Given the description of an element on the screen output the (x, y) to click on. 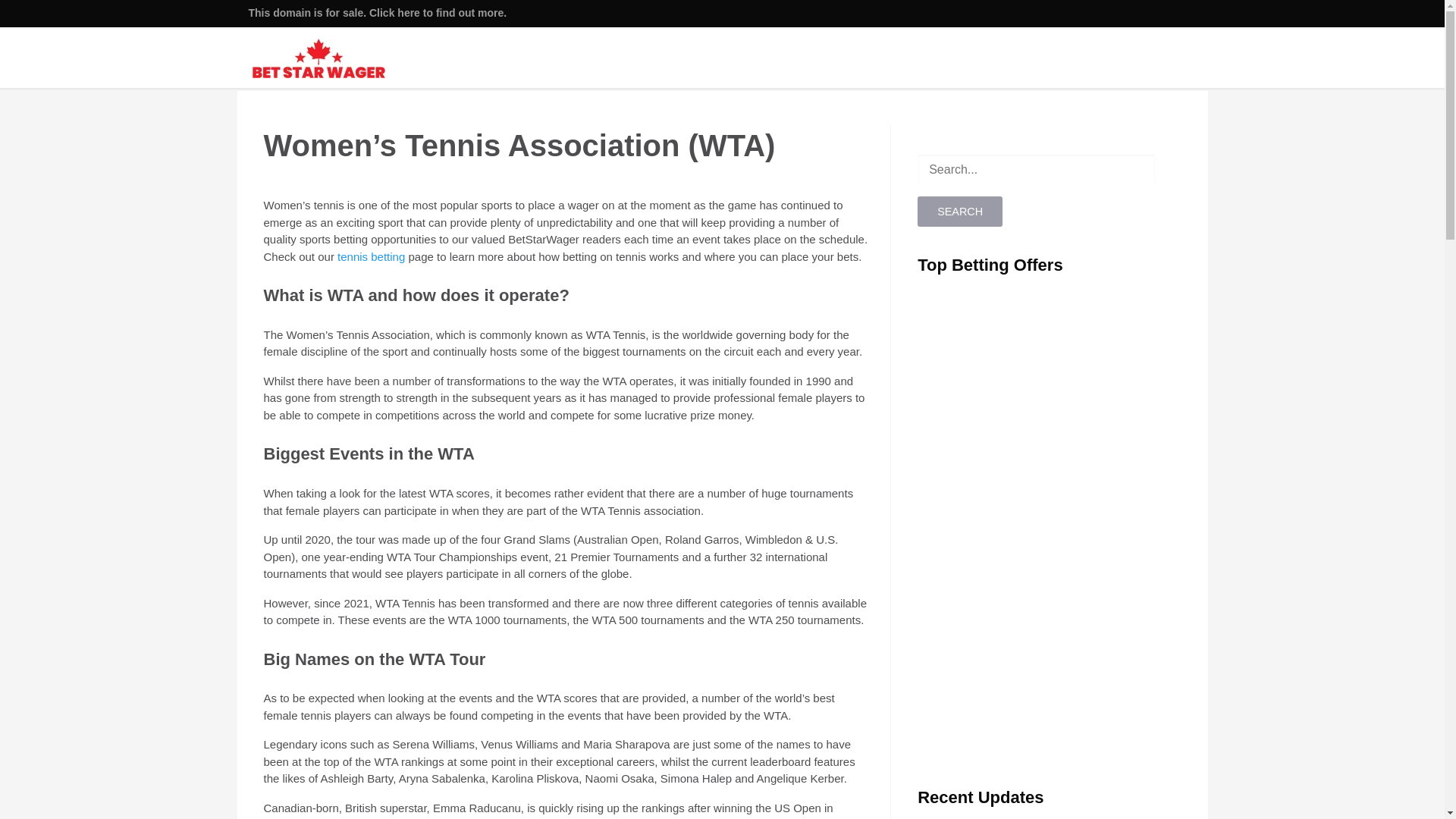
News (1166, 56)
Home (705, 56)
Search (960, 211)
Games (1111, 56)
Best Betting Sites (875, 56)
Search for: (1035, 169)
Bet Bonuses (775, 56)
This domain is for sale. Click here to find out more. (377, 12)
tennis betting (370, 256)
Online Casino (1034, 56)
